Given the description of an element on the screen output the (x, y) to click on. 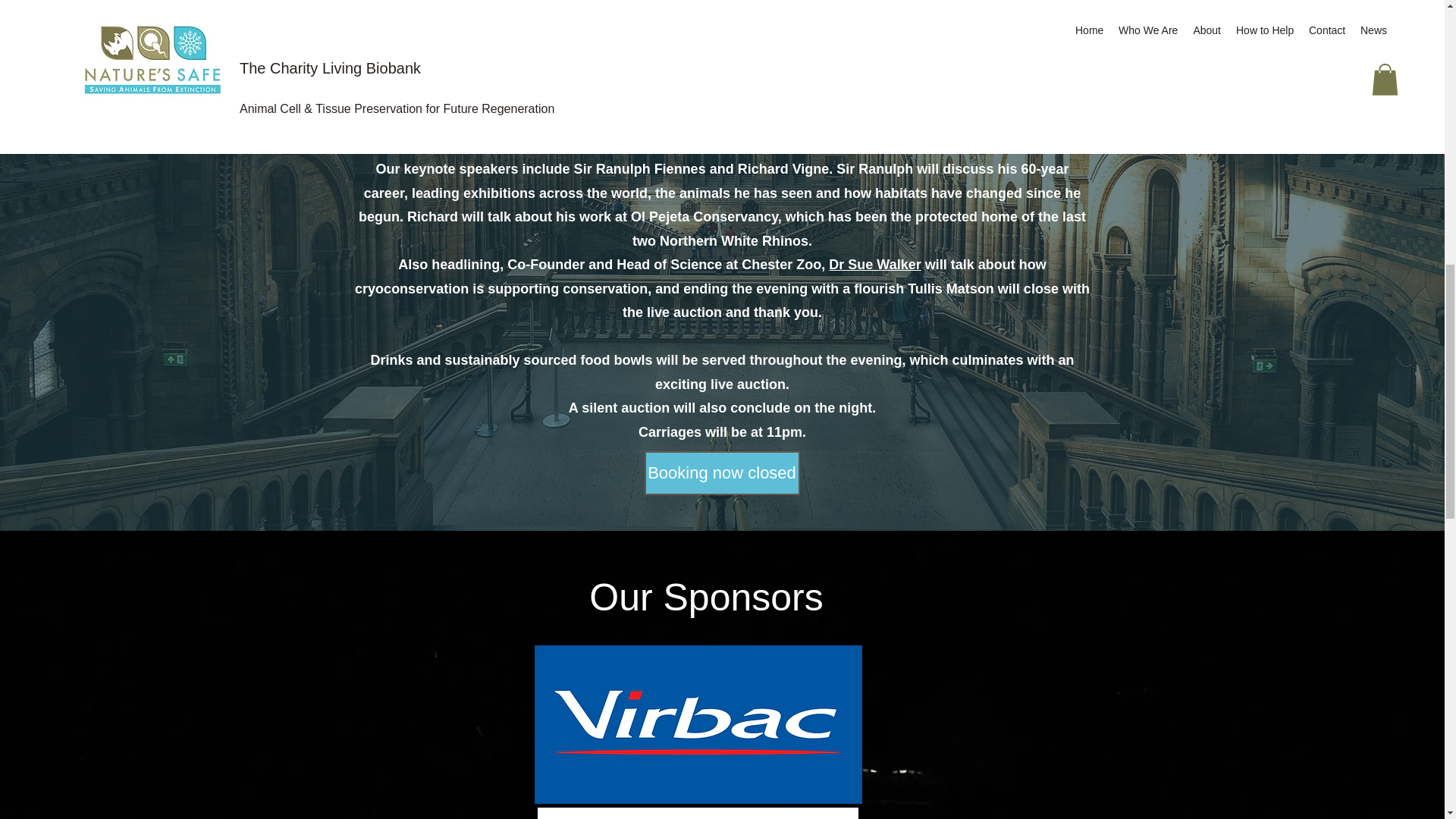
Tullis Matson (551, 96)
Dr Sue Walker (874, 264)
sponsors group 2.jpg (697, 813)
